Given the description of an element on the screen output the (x, y) to click on. 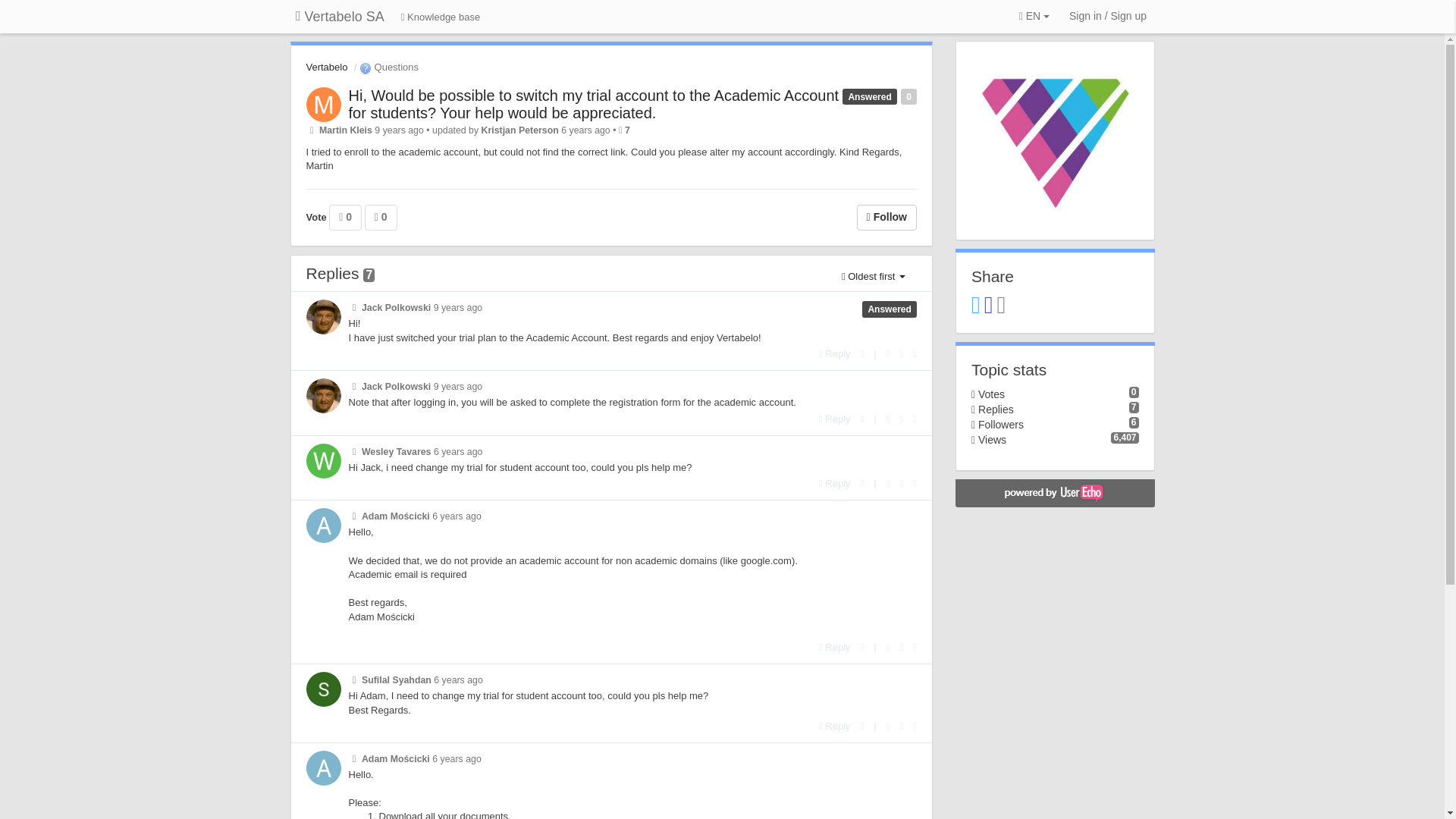
Vertabelo SA (339, 16)
Kristjan Peterson (520, 130)
Martin Kleis (345, 130)
Questions (387, 66)
Knowledge base (441, 17)
0 (345, 217)
Vertabelo (326, 66)
EN (1034, 16)
